Given the description of an element on the screen output the (x, y) to click on. 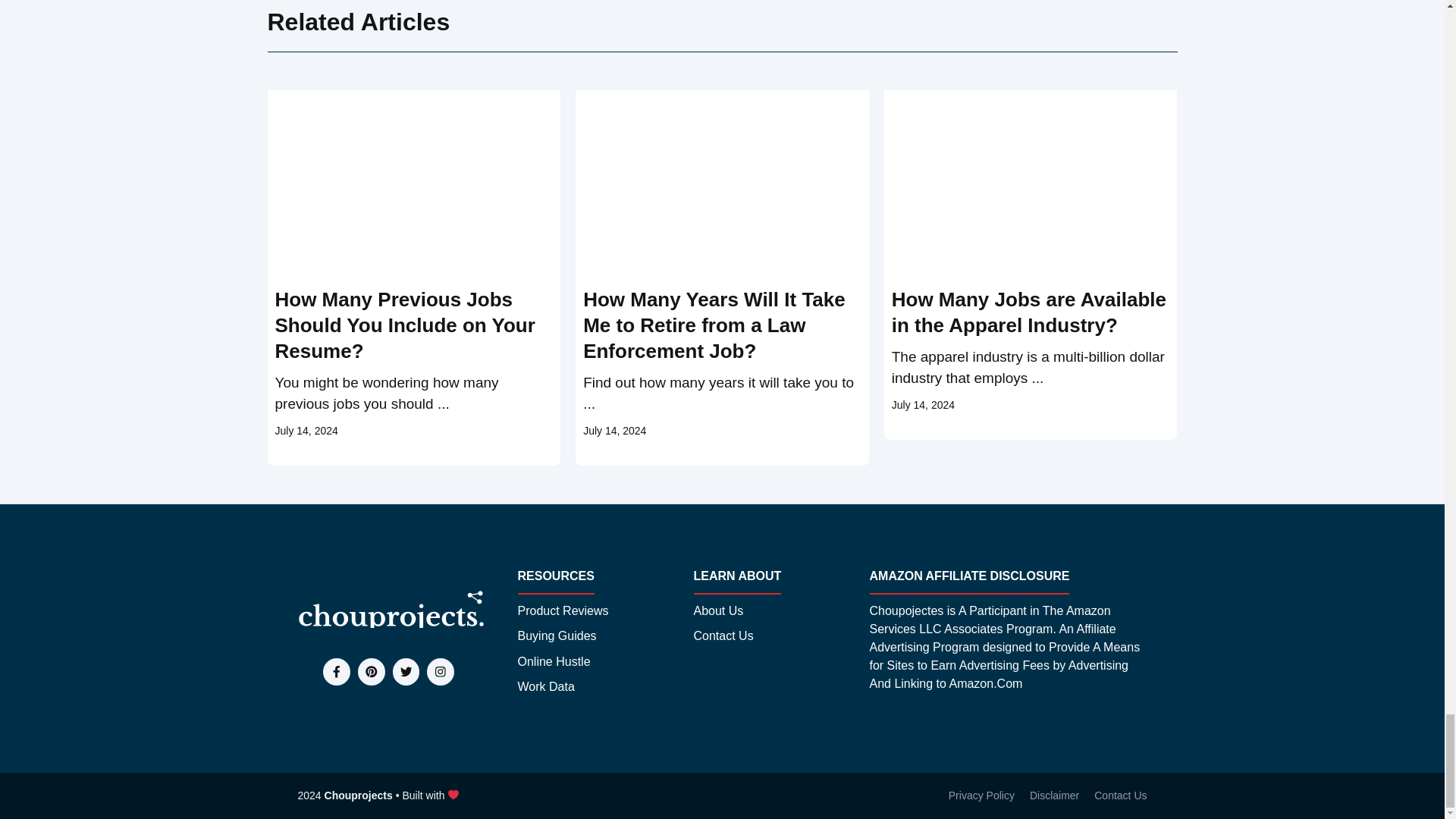
Privacy Policy (981, 795)
About Us (717, 610)
Product Reviews (562, 610)
Buying Guides (555, 636)
Contact Us (722, 636)
Contact Us (1120, 795)
Online Hustle (552, 661)
How Many Jobs are Available in the Apparel Industry? (1028, 312)
Work Data (544, 687)
Disclaimer (1053, 795)
How Many Previous Jobs Should You Include on Your Resume? (404, 325)
